Given the description of an element on the screen output the (x, y) to click on. 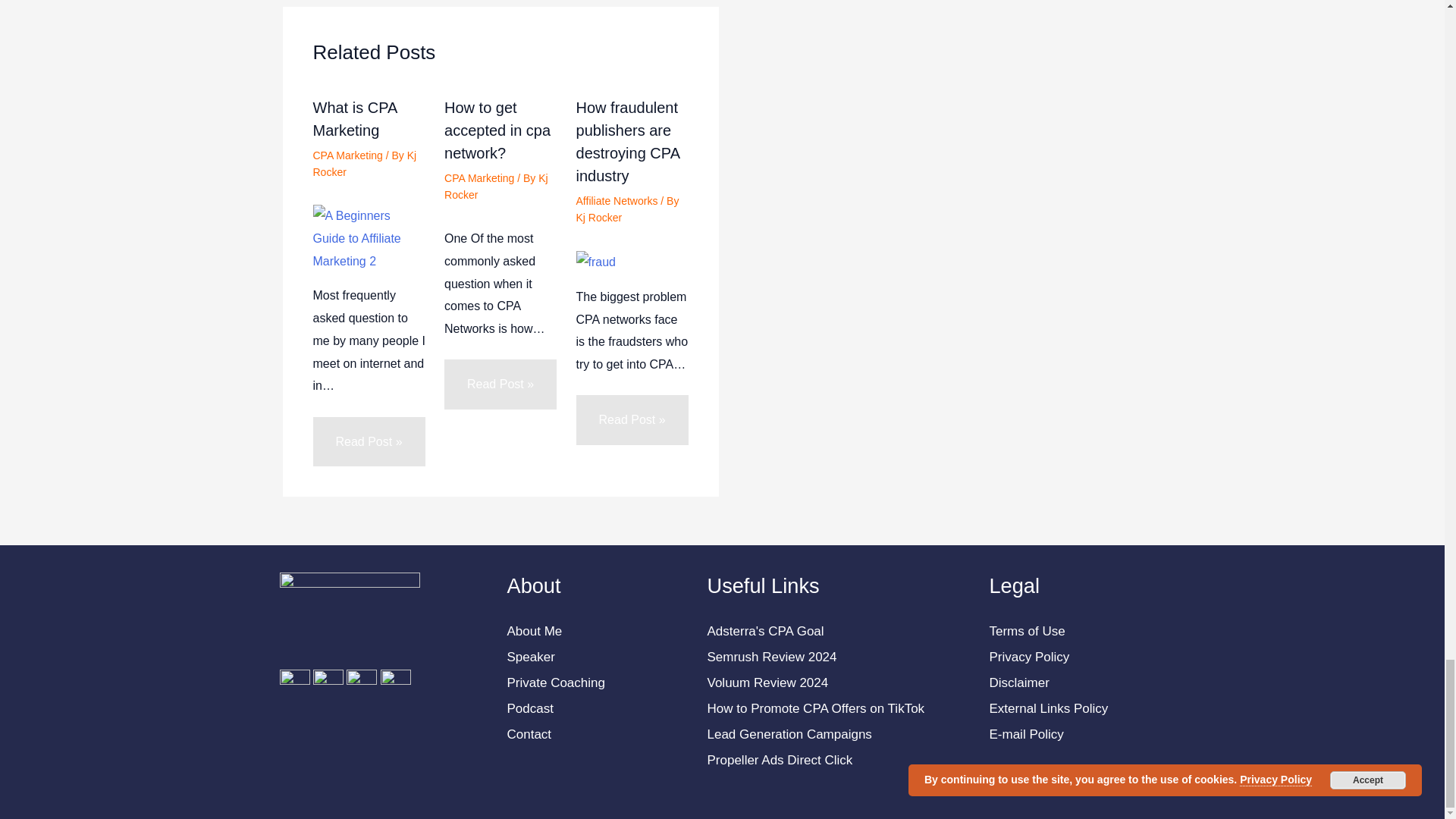
View all posts by Kj Rocker (496, 185)
View all posts by Kj Rocker (599, 217)
View all posts by Kj Rocker (364, 163)
